Given the description of an element on the screen output the (x, y) to click on. 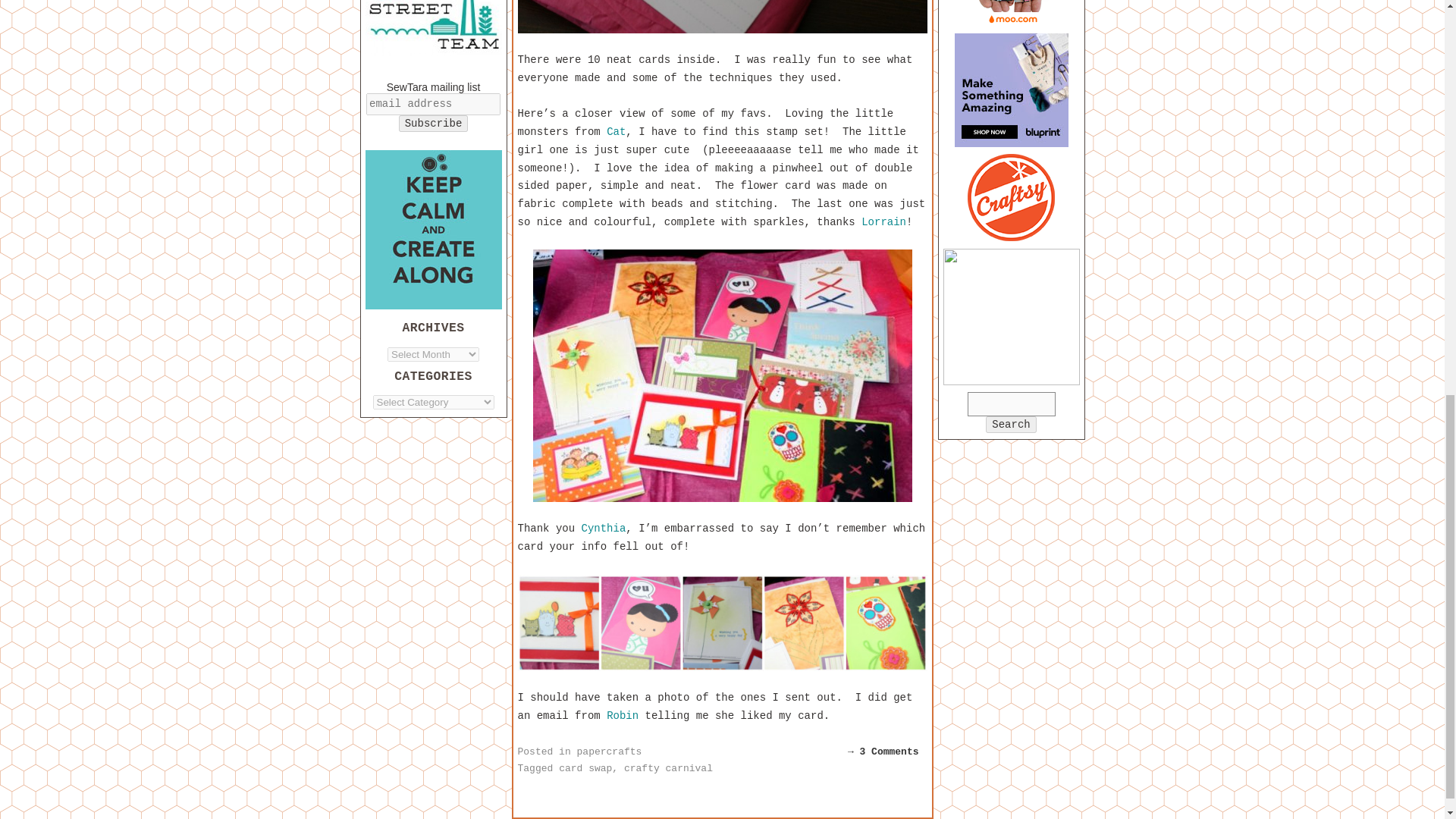
Subscribe (433, 123)
Search (1010, 424)
card swap collage (721, 622)
crafty carnival (668, 767)
card swap package from crafty carnival (721, 16)
Subscribe (433, 123)
Cat (616, 132)
Cynthia (603, 528)
Robin (623, 715)
papercrafts (609, 751)
Lorrain (883, 222)
card swap cards (721, 375)
card swap (585, 767)
